Given the description of an element on the screen output the (x, y) to click on. 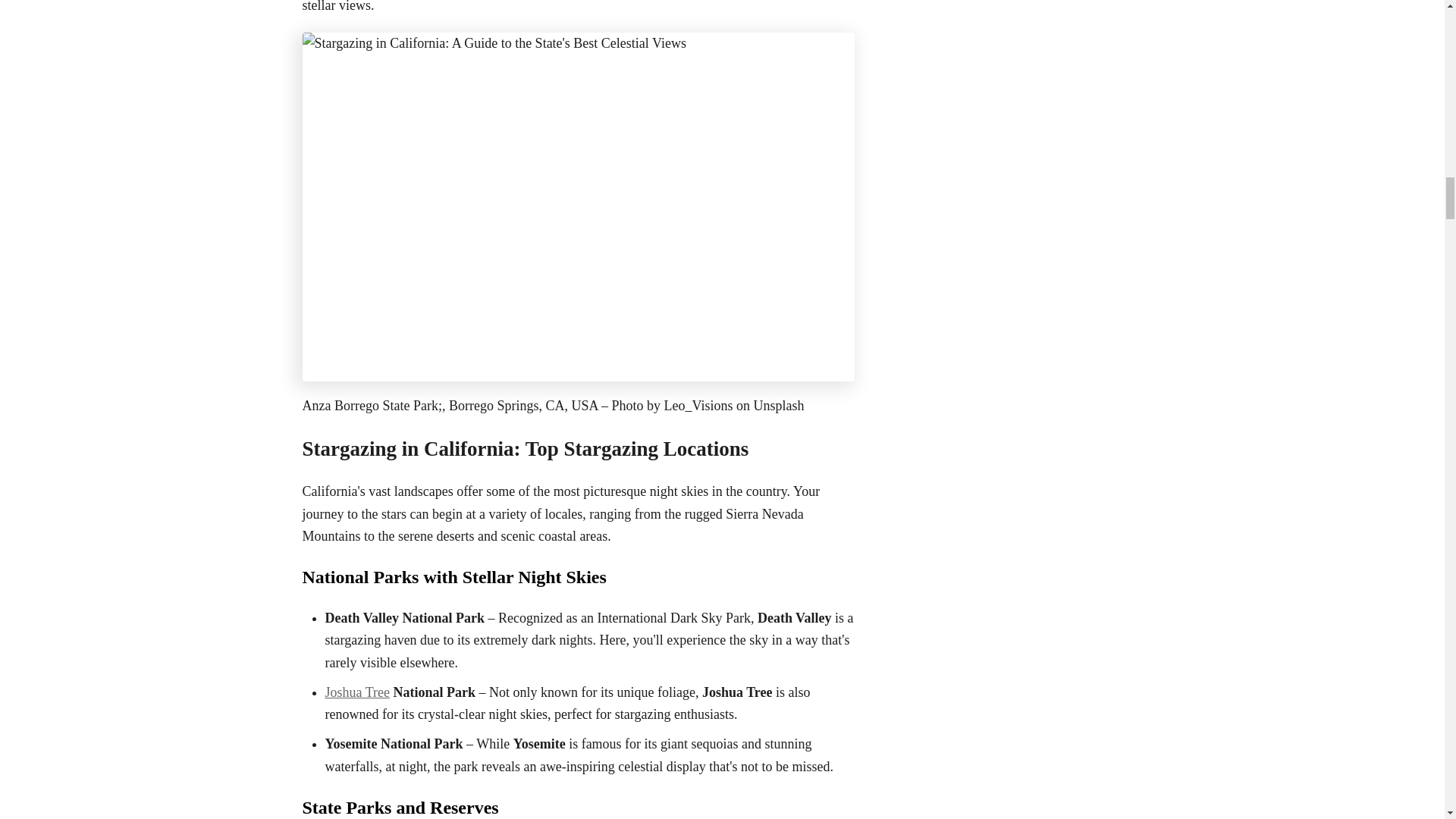
Joshua Tree (357, 692)
